Given the description of an element on the screen output the (x, y) to click on. 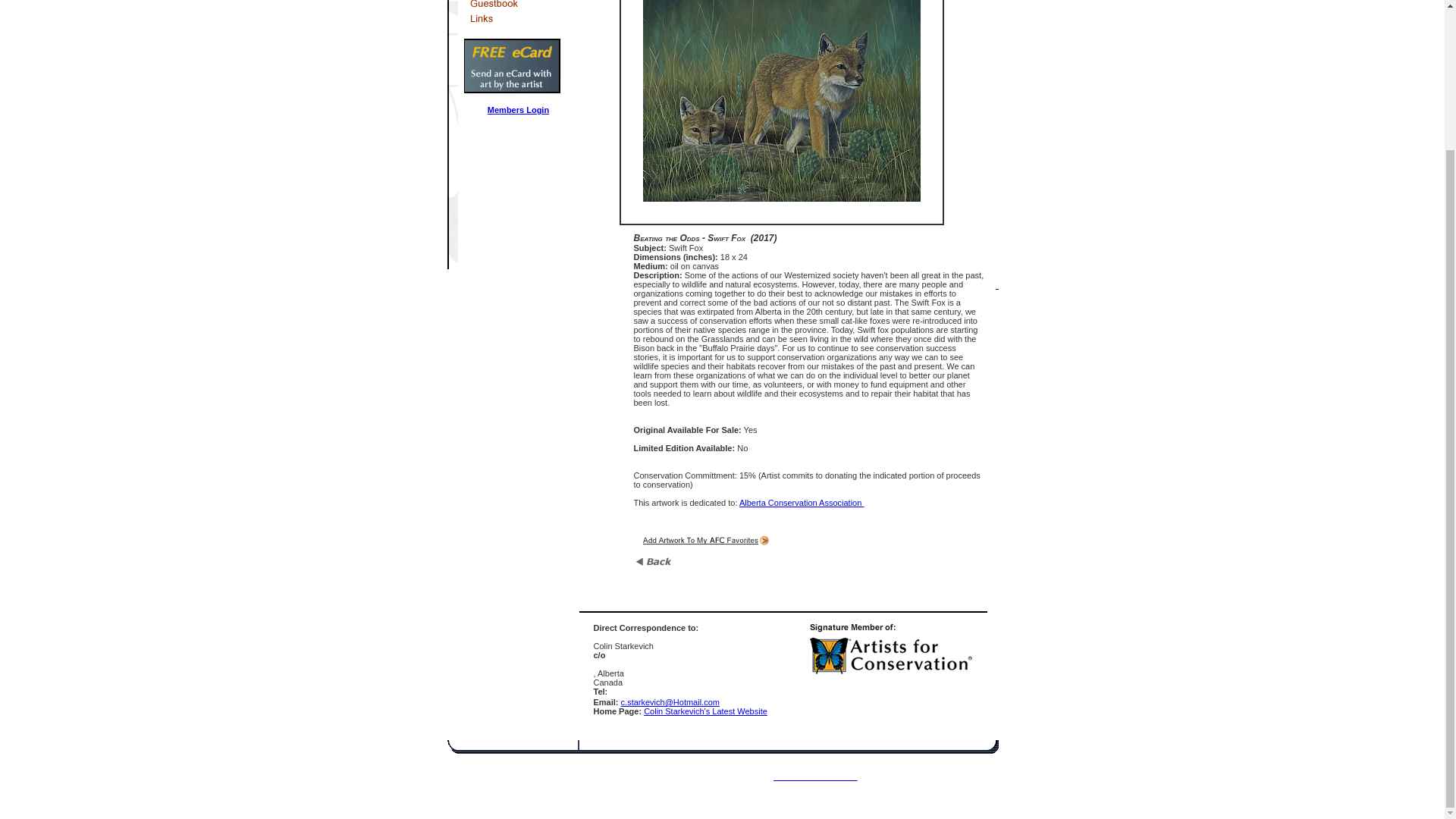
Colin Starkevich's Latest Website (705, 710)
www.natureartists.com (815, 776)
Alberta Conservation Association (801, 501)
Members Login (517, 109)
